Given the description of an element on the screen output the (x, y) to click on. 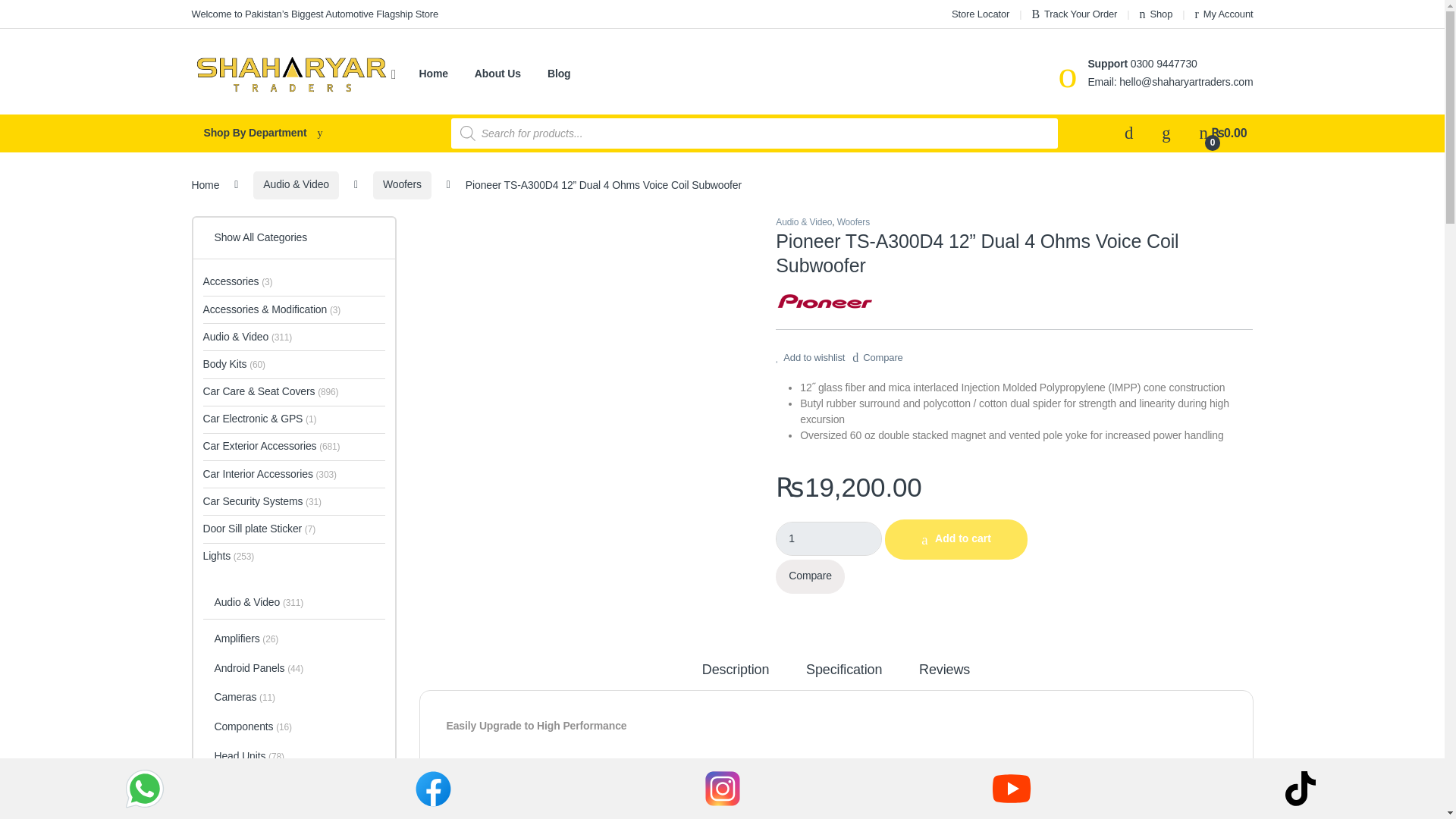
Home (432, 73)
Track Your Order (1073, 13)
My Account (1224, 13)
Store Locator (980, 13)
Shop (1156, 13)
Store Locator (980, 13)
Track Your Order (1073, 13)
Shop (1156, 13)
1 (829, 538)
Welcome to Pakistan's Biggest Automotive Flagship Store (314, 13)
My Account (1224, 13)
